Given the description of an element on the screen output the (x, y) to click on. 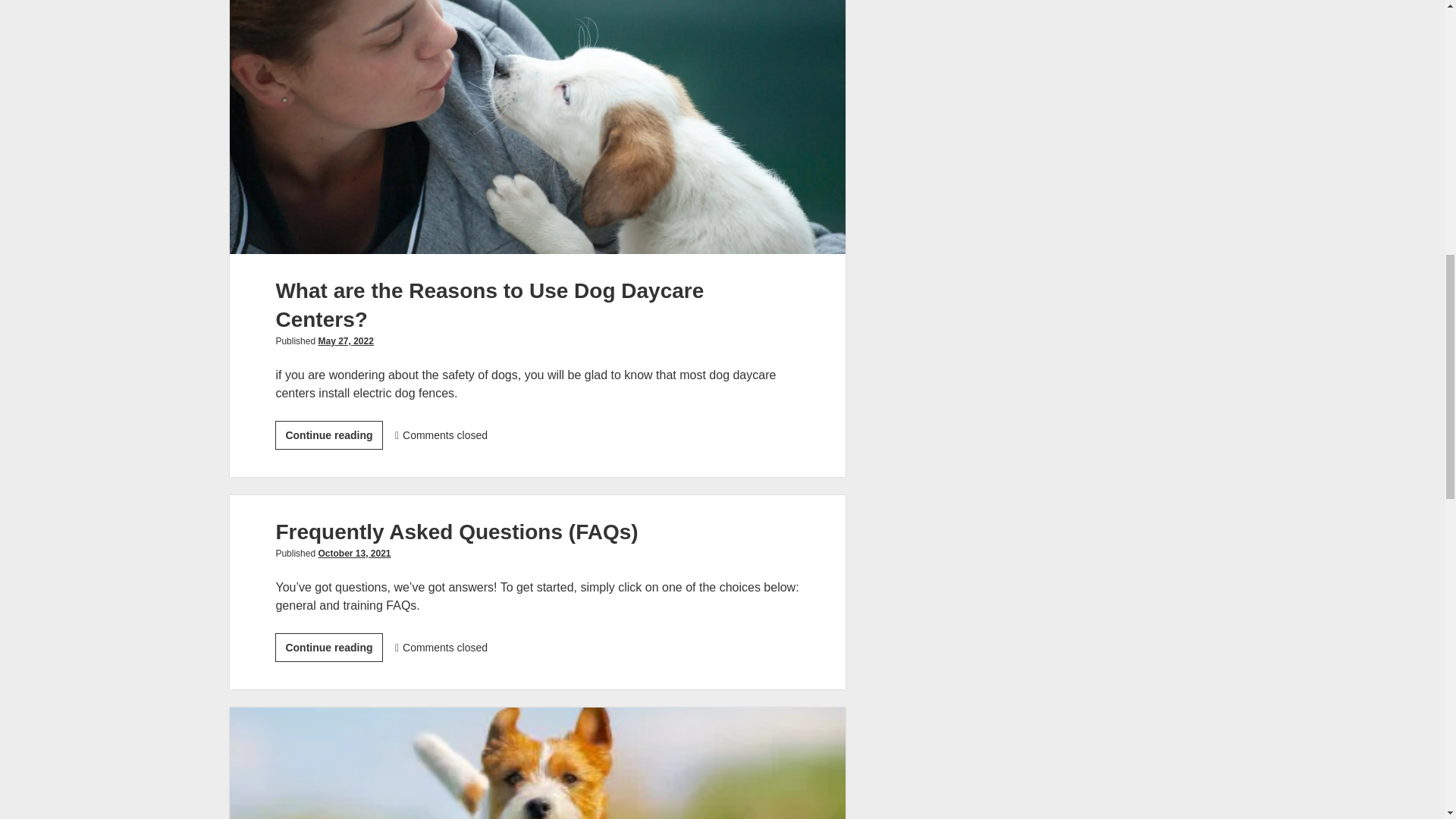
Resources For Dog Training Ideas And Tips (536, 763)
What are the Reasons to Use Dog Daycare Centers? (489, 305)
May 27, 2022 (344, 340)
October 13, 2021 (353, 552)
